Given the description of an element on the screen output the (x, y) to click on. 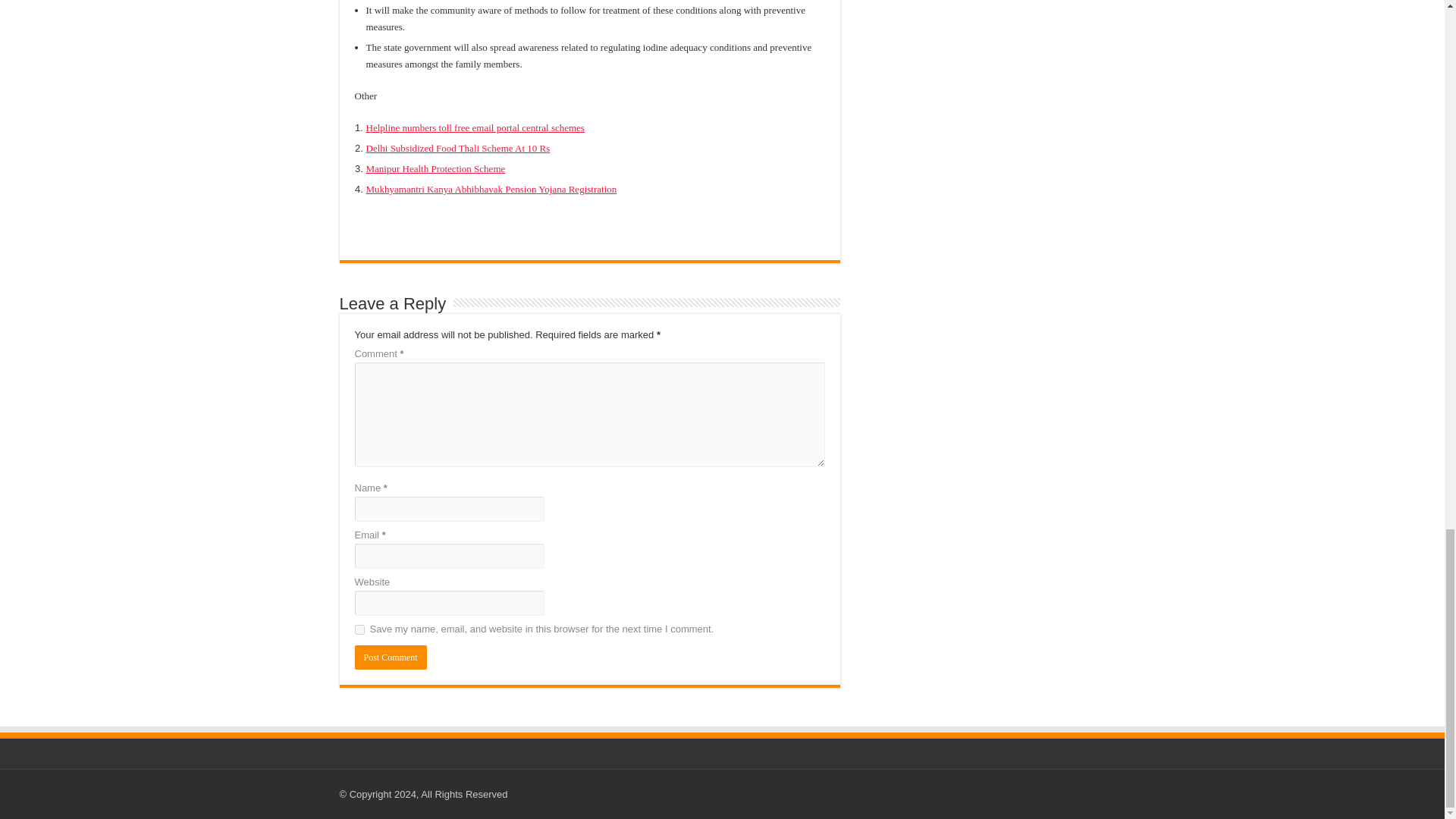
Post Comment (390, 657)
Post Comment (390, 657)
Delhi Subsidized Food Thali Scheme At 10 Rs (457, 147)
Manipur Health Protection Scheme (435, 168)
yes (360, 629)
Mukhyamantri Kanya Abhibhavak Pension Yojana Registration (490, 188)
Helpline numbers toll free email portal central schemes (474, 127)
